Given the description of an element on the screen output the (x, y) to click on. 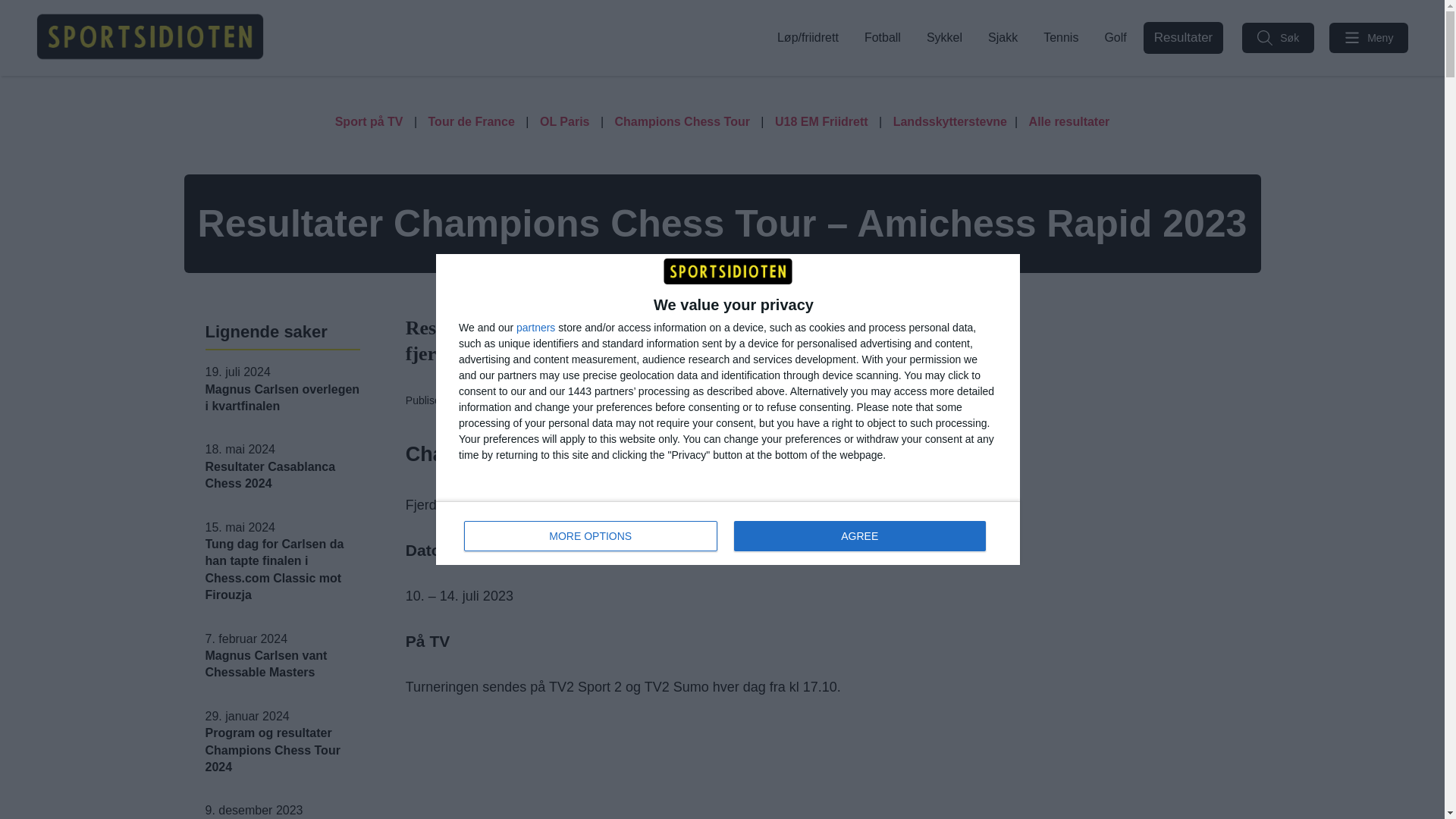
partners (535, 327)
Sjakk (1002, 37)
Tennis (1060, 37)
Golf (727, 533)
Fotball (1114, 37)
AGREE (883, 37)
MORE OPTIONS (859, 535)
Sykkel (590, 535)
Resultater (944, 37)
